Given the description of an element on the screen output the (x, y) to click on. 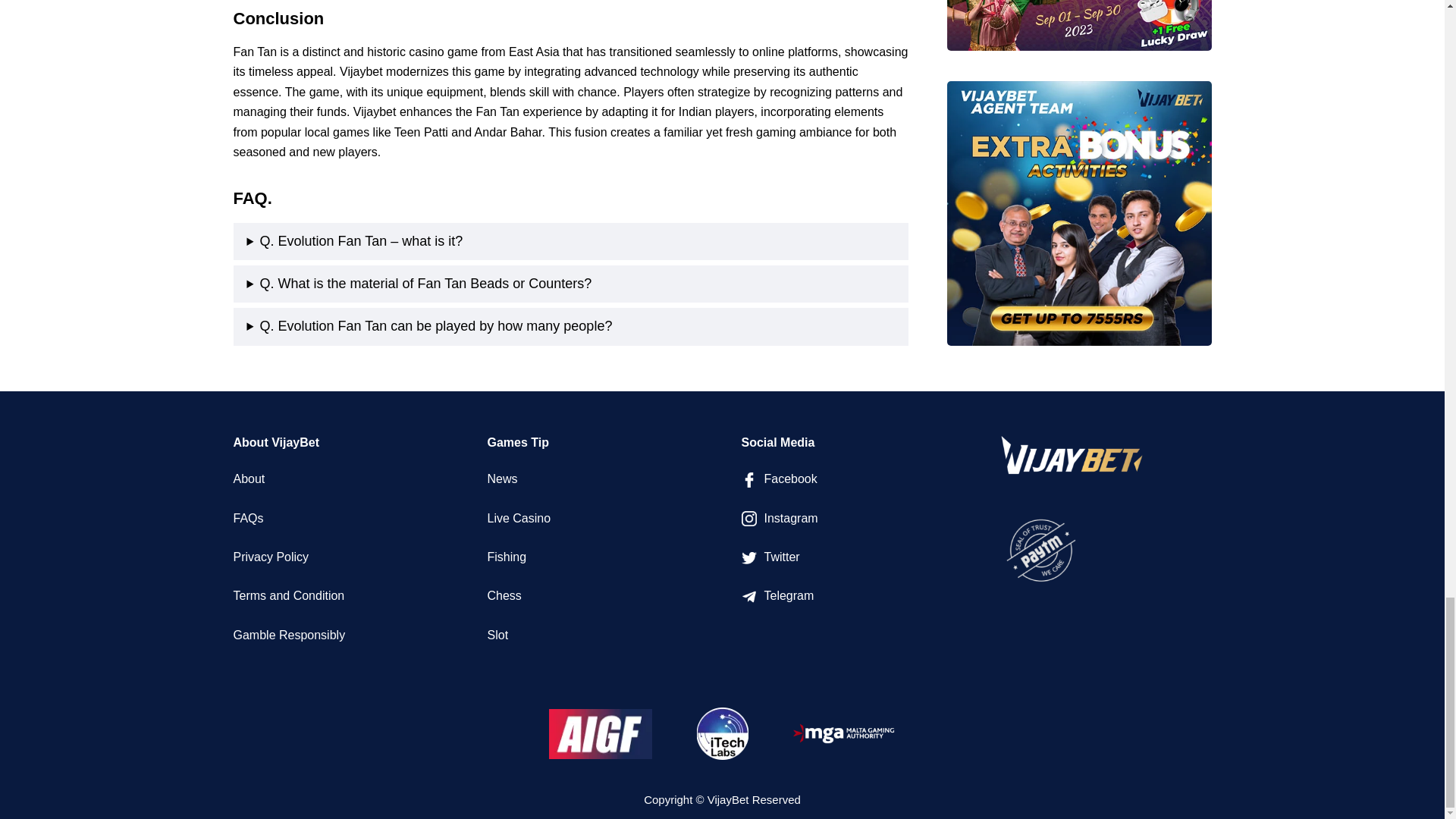
About (248, 478)
FAQs (247, 517)
Terms and Condition (288, 594)
Privacy Policy (270, 556)
